Given the description of an element on the screen output the (x, y) to click on. 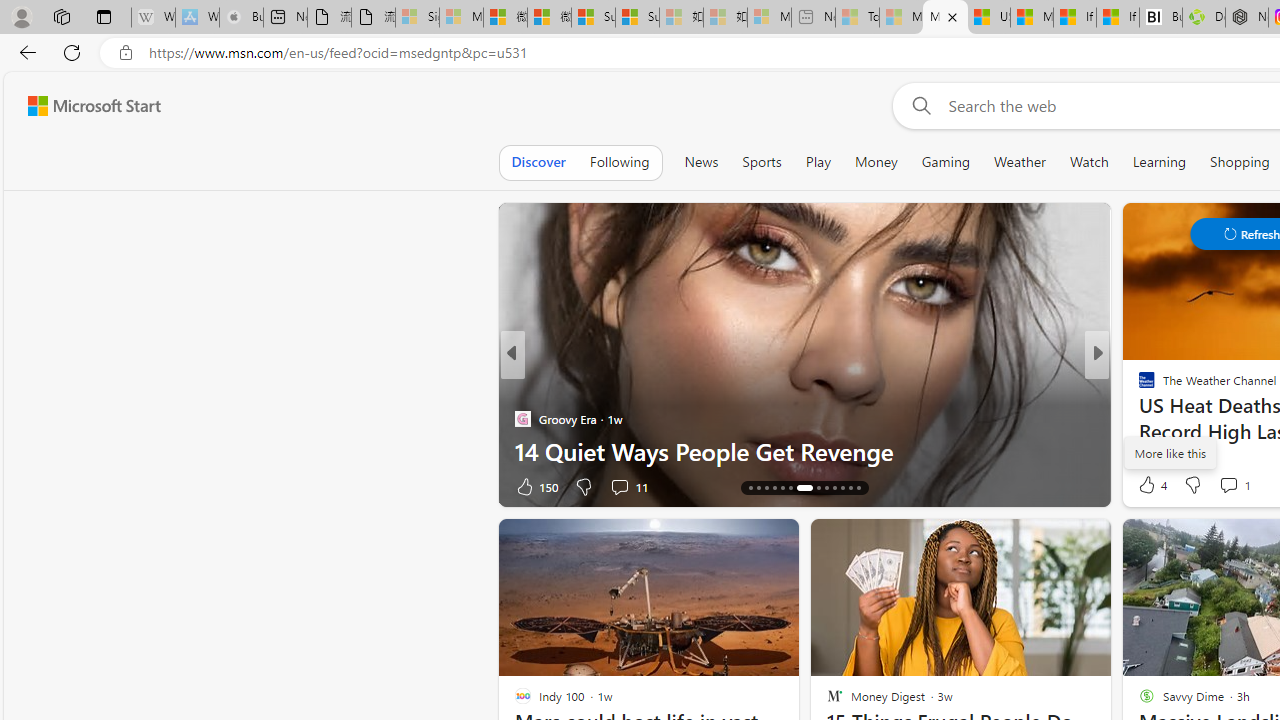
The Register (1138, 418)
Learning (1159, 162)
spot on news (1138, 418)
Discover (538, 161)
14 Quiet Ways People Get Revenge (804, 450)
Workspaces (61, 16)
AutomationID: tab-18 (782, 487)
View comments 35 Comment (1234, 485)
Money (876, 162)
Buy iPad - Apple - Sleeping (241, 17)
